Given the description of an element on the screen output the (x, y) to click on. 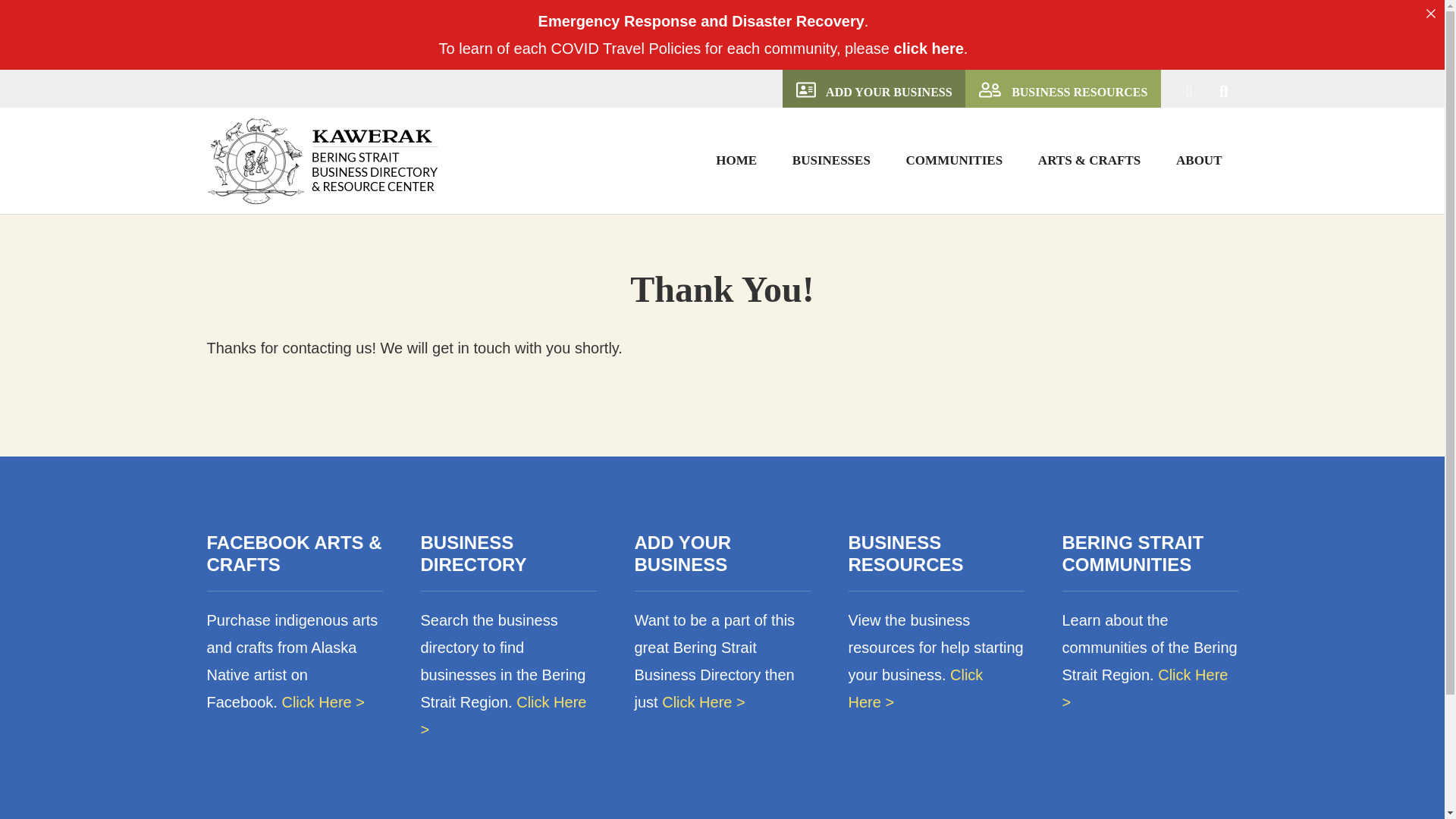
BUSINESSES (831, 159)
ADD YOUR BUSINESS (874, 89)
click here (928, 48)
HOME (736, 159)
ABOUT (1198, 159)
BUSINESS RESOURCES (1062, 89)
Emergency Response and Disaster Recovery (701, 21)
COMMUNITIES (954, 159)
